Given the description of an element on the screen output the (x, y) to click on. 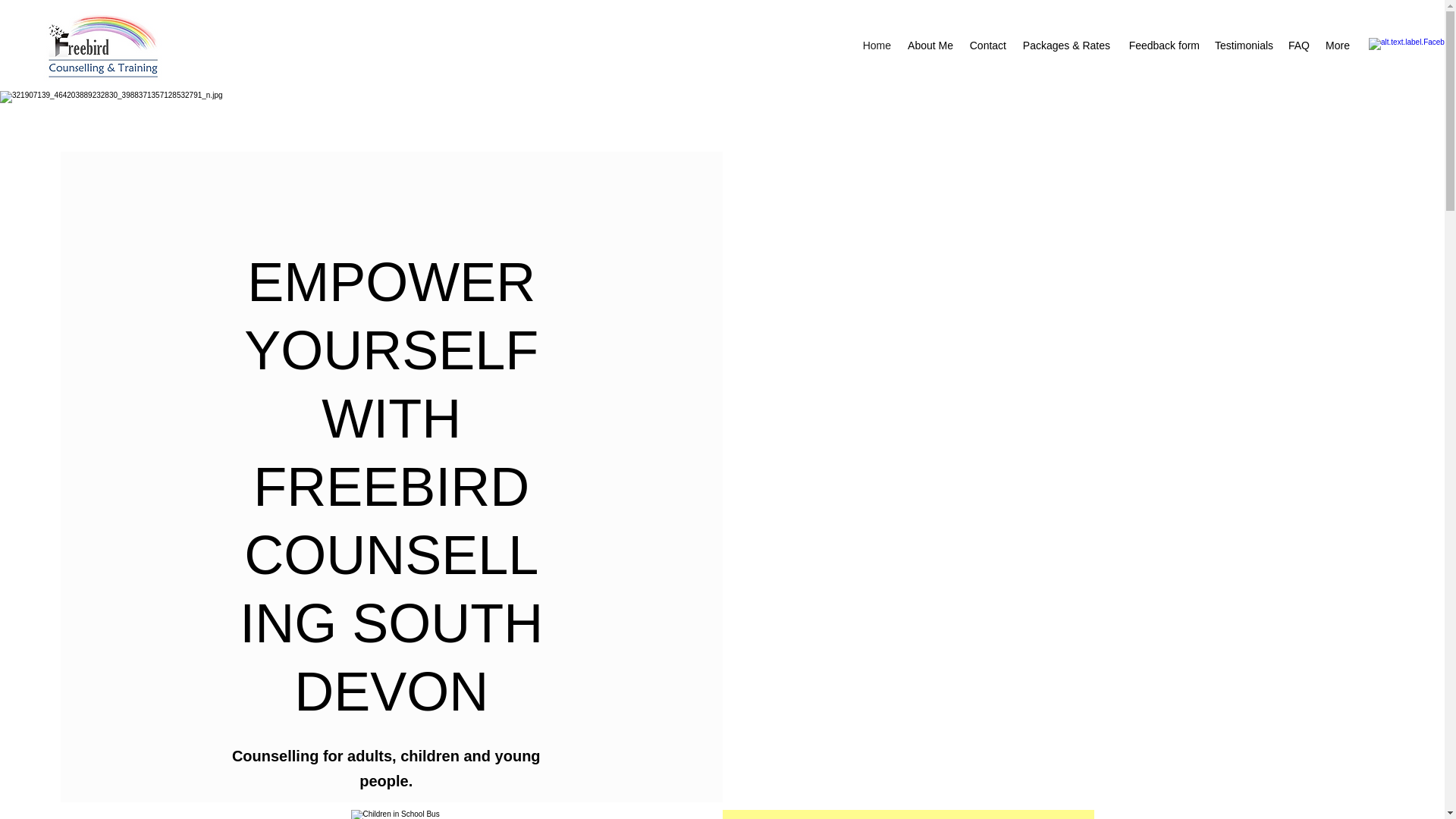
Home (876, 45)
FAQ (1299, 45)
Contact (986, 45)
Feedback form (1162, 45)
Testimonials (1244, 45)
About Me (929, 45)
